Given the description of an element on the screen output the (x, y) to click on. 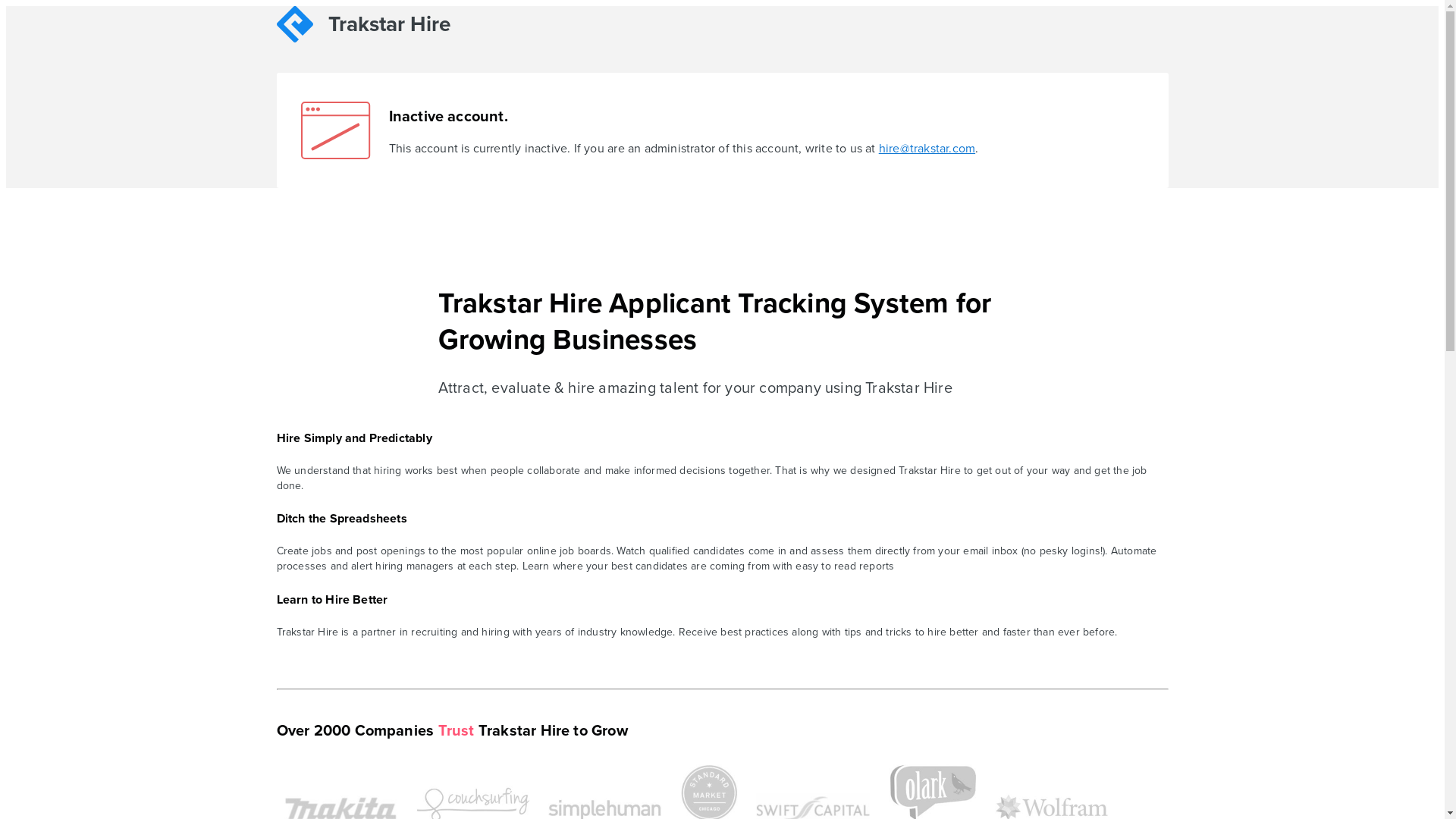
Trakstar Hire: Recruitment Software, Applicant Tracking Element type: hover (294, 24)
hire@trakstar.com Element type: text (926, 148)
Trakstar Hire Element type: text (384, 27)
